Given the description of an element on the screen output the (x, y) to click on. 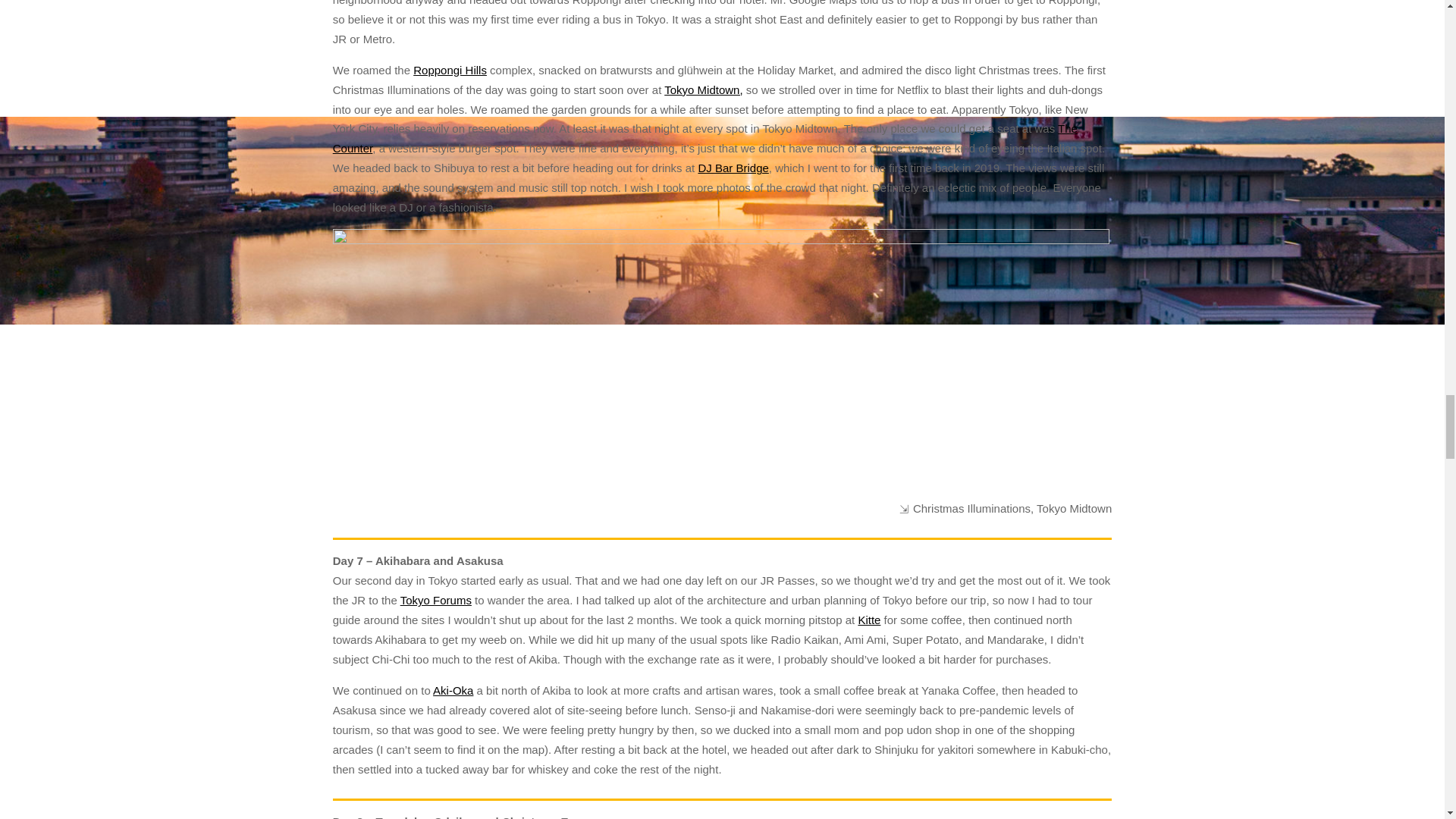
Tokyo Forums (435, 599)
Tokyo Midtown, (702, 89)
Kitte (868, 619)
DJ Bar Bridge (732, 167)
Roppongi Hills (449, 69)
Aki-Oka (452, 689)
The Counter (705, 138)
